Given the description of an element on the screen output the (x, y) to click on. 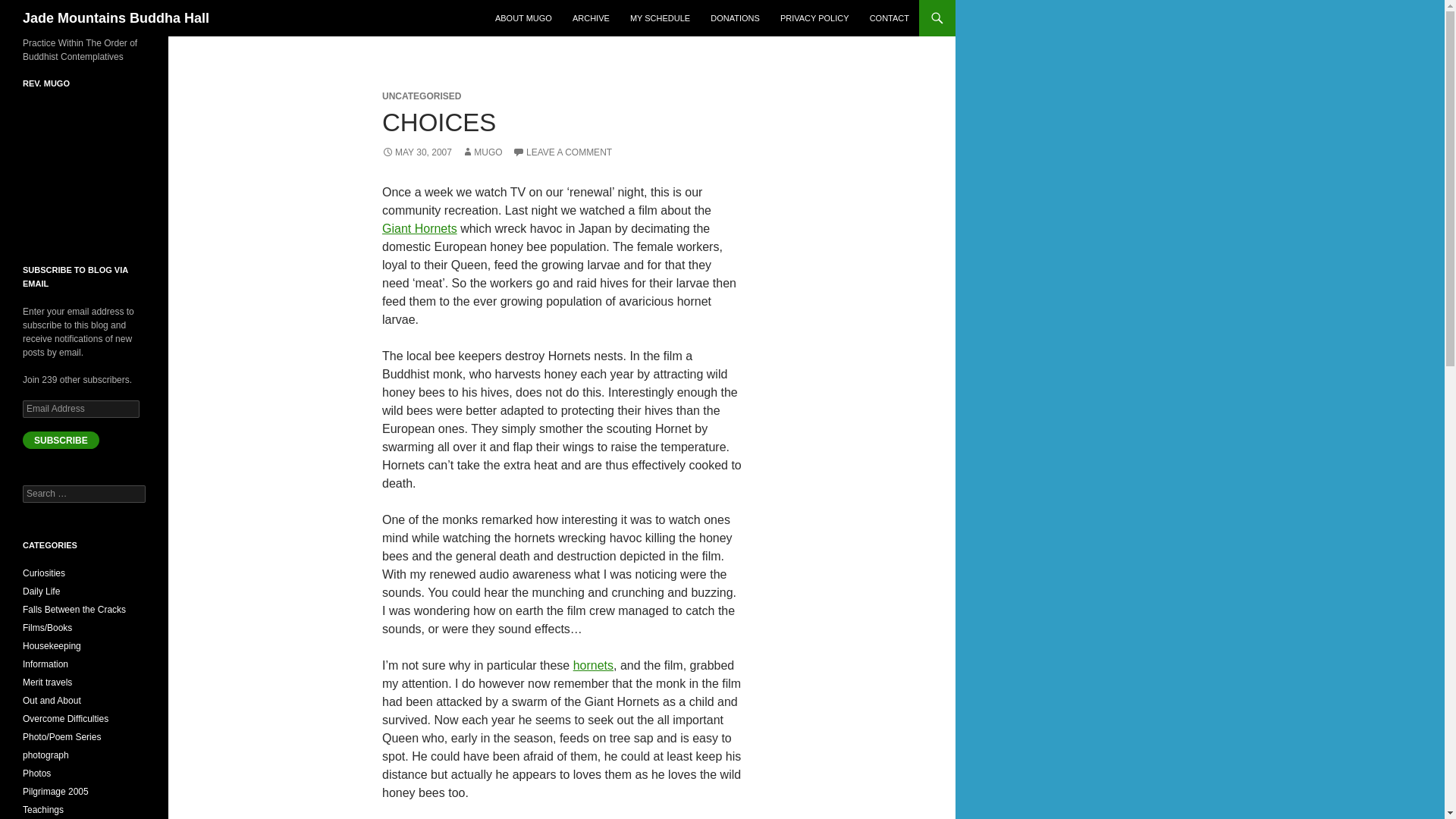
Photographs taken by Rev. Mugo. (36, 773)
Giant Hornets (419, 228)
Housekeeping (52, 645)
CONTACT (889, 18)
Curiosities (44, 573)
MAY 30, 2007 (416, 152)
MUGO (481, 152)
Daily Life (41, 591)
PRIVACY POLICY (815, 18)
Information (45, 664)
